Given the description of an element on the screen output the (x, y) to click on. 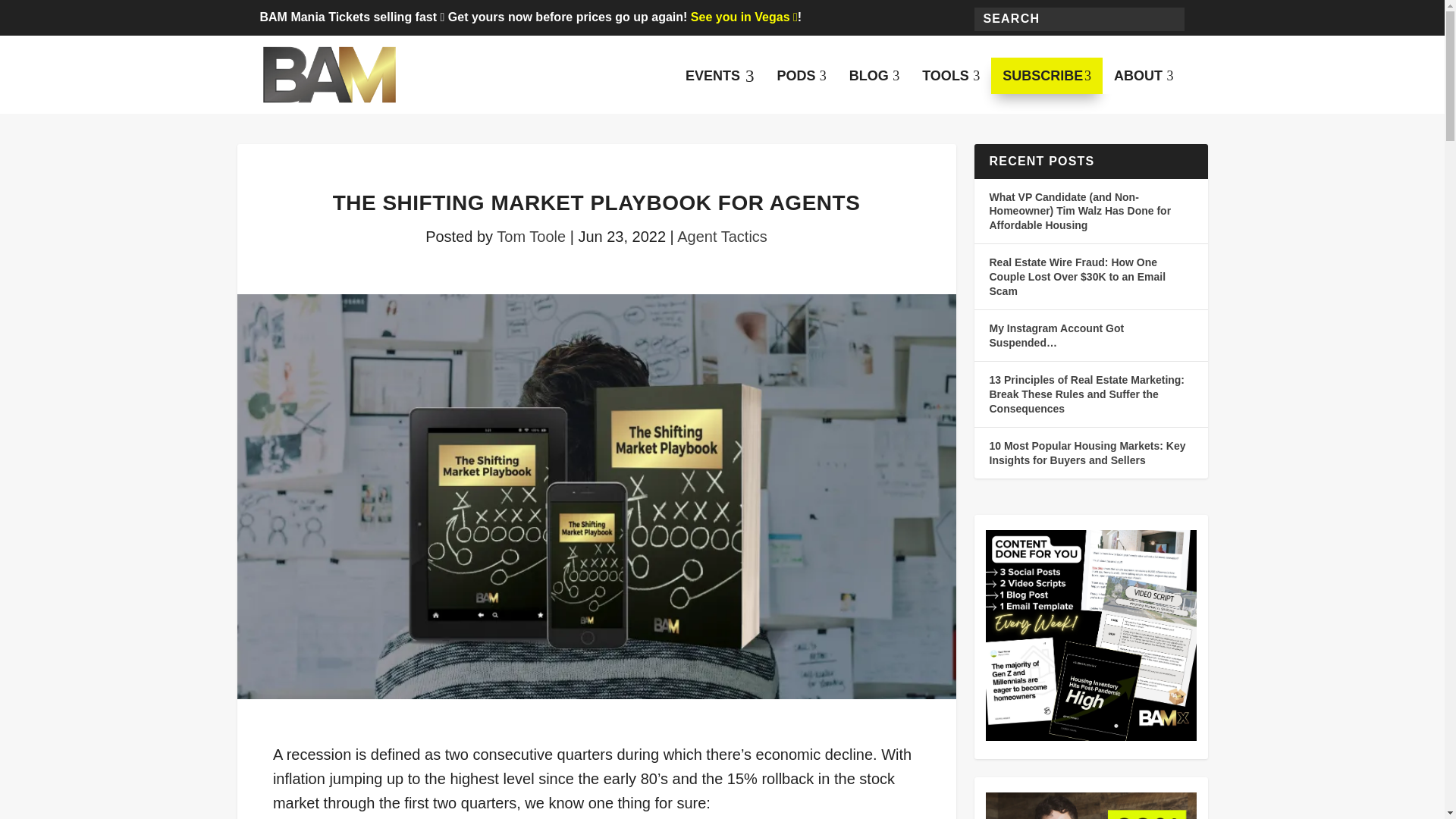
Posts by Tom Toole (951, 75)
Search (1046, 75)
